Given the description of an element on the screen output the (x, y) to click on. 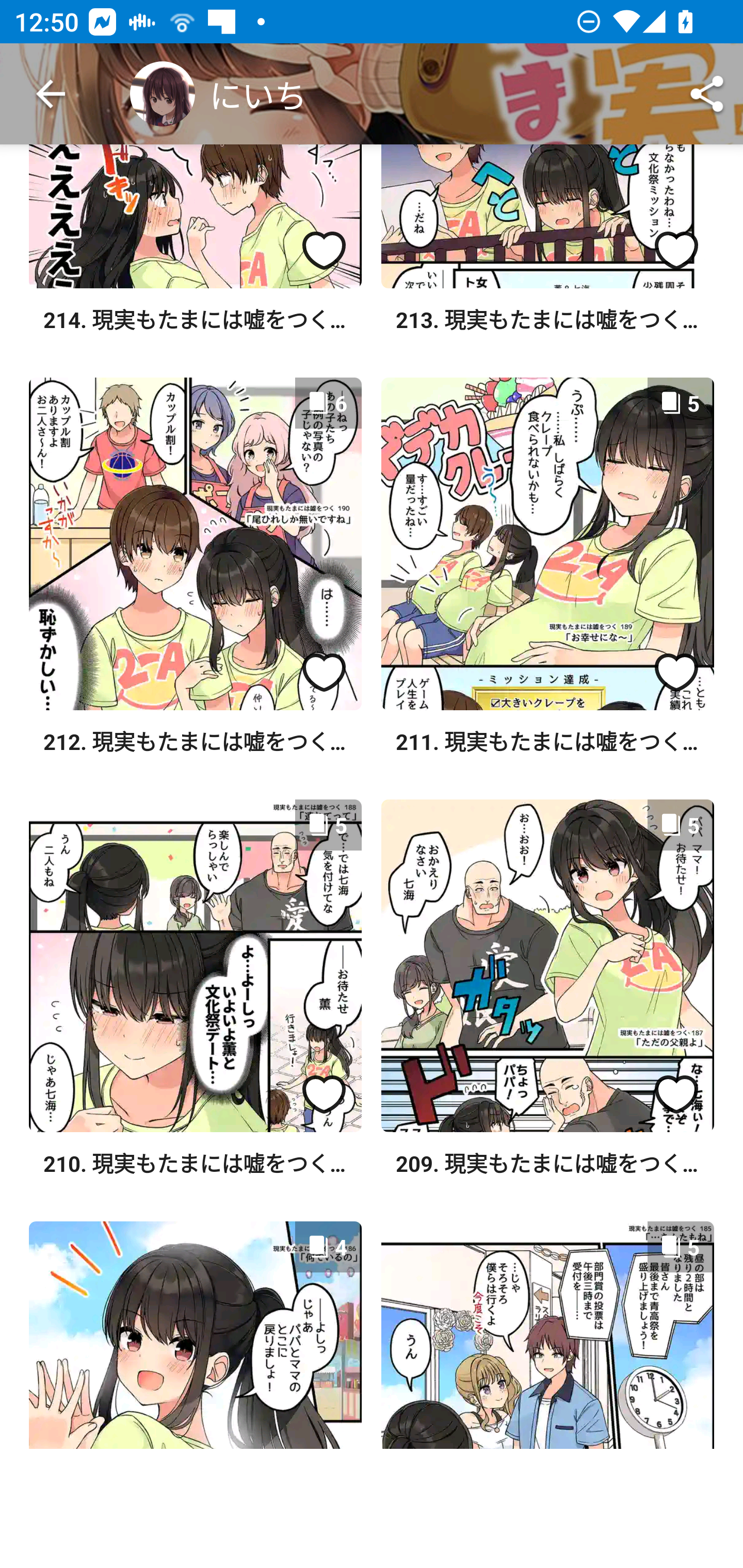
Navigate up (50, 93)
Share (706, 93)
にいち (218, 94)
6 (194, 543)
5 (547, 543)
5 (194, 965)
5 (547, 965)
4 (194, 1334)
5 (547, 1334)
